Given the description of an element on the screen output the (x, y) to click on. 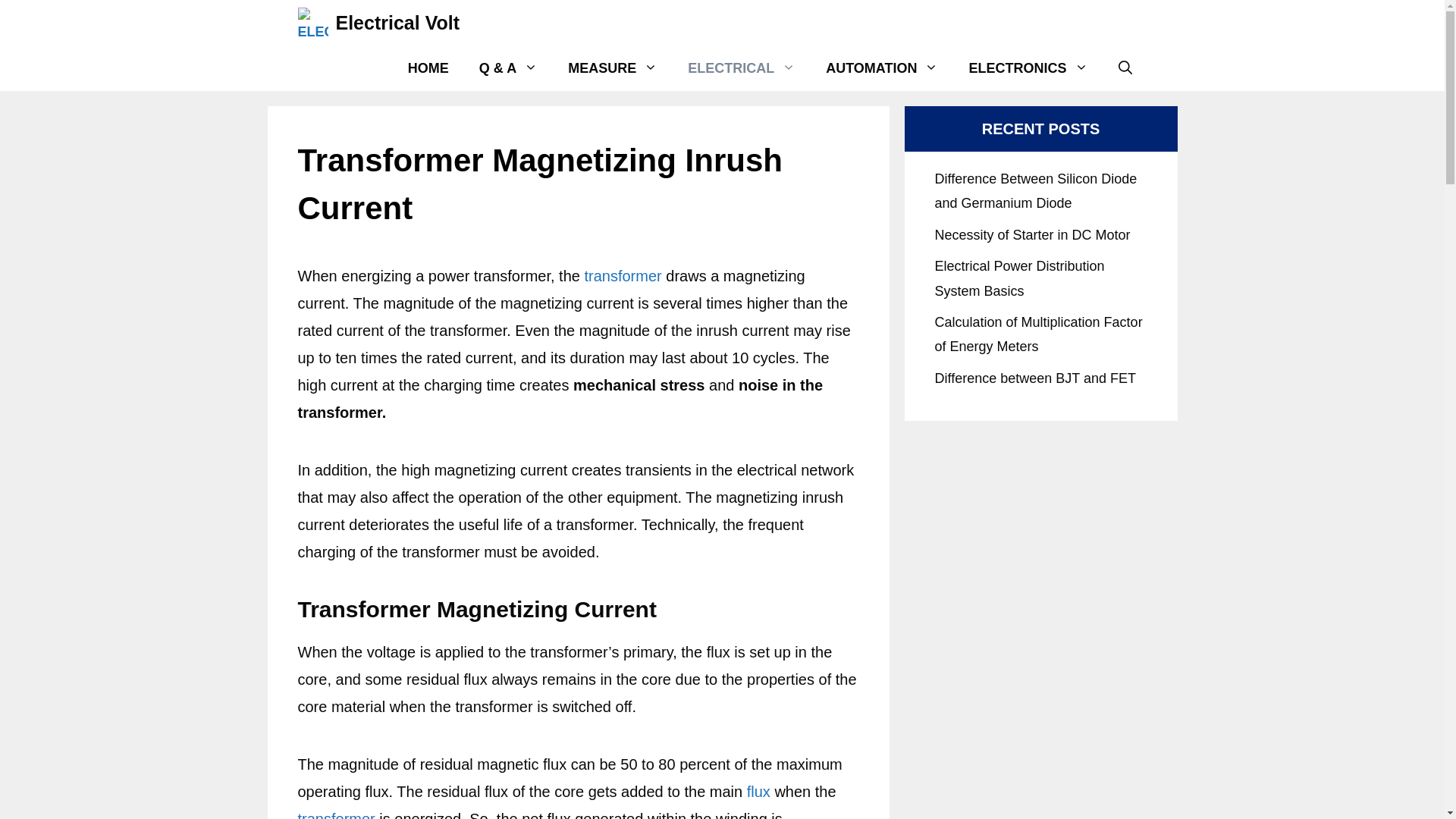
Electrical Volt (397, 22)
ELECTRICAL (741, 67)
Electrical Volt (312, 22)
HOME (428, 67)
MEASURE (612, 67)
